Given the description of an element on the screen output the (x, y) to click on. 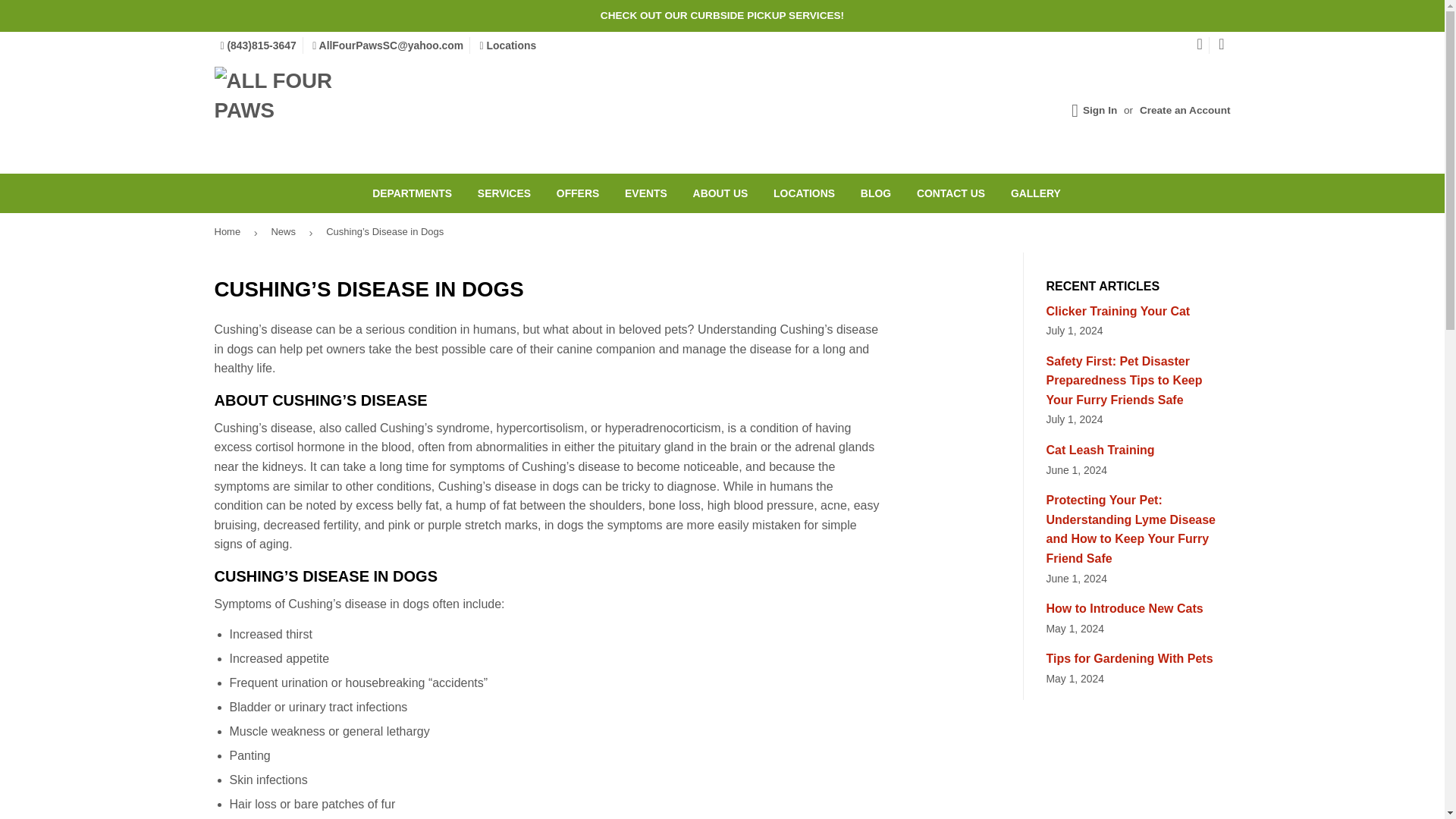
LOCATIONS (803, 192)
OFFERS (577, 192)
CONTACT US (950, 192)
Create an Account (1185, 110)
GALLERY (1034, 192)
Sign In (1099, 110)
CHECK OUT OUR CURBSIDE PICKUP SERVICES! (721, 15)
DEPARTMENTS (412, 192)
 Locations (508, 45)
BLOG (875, 192)
ABOUT US (720, 192)
SERVICES (503, 192)
EVENTS (645, 192)
